Given the description of an element on the screen output the (x, y) to click on. 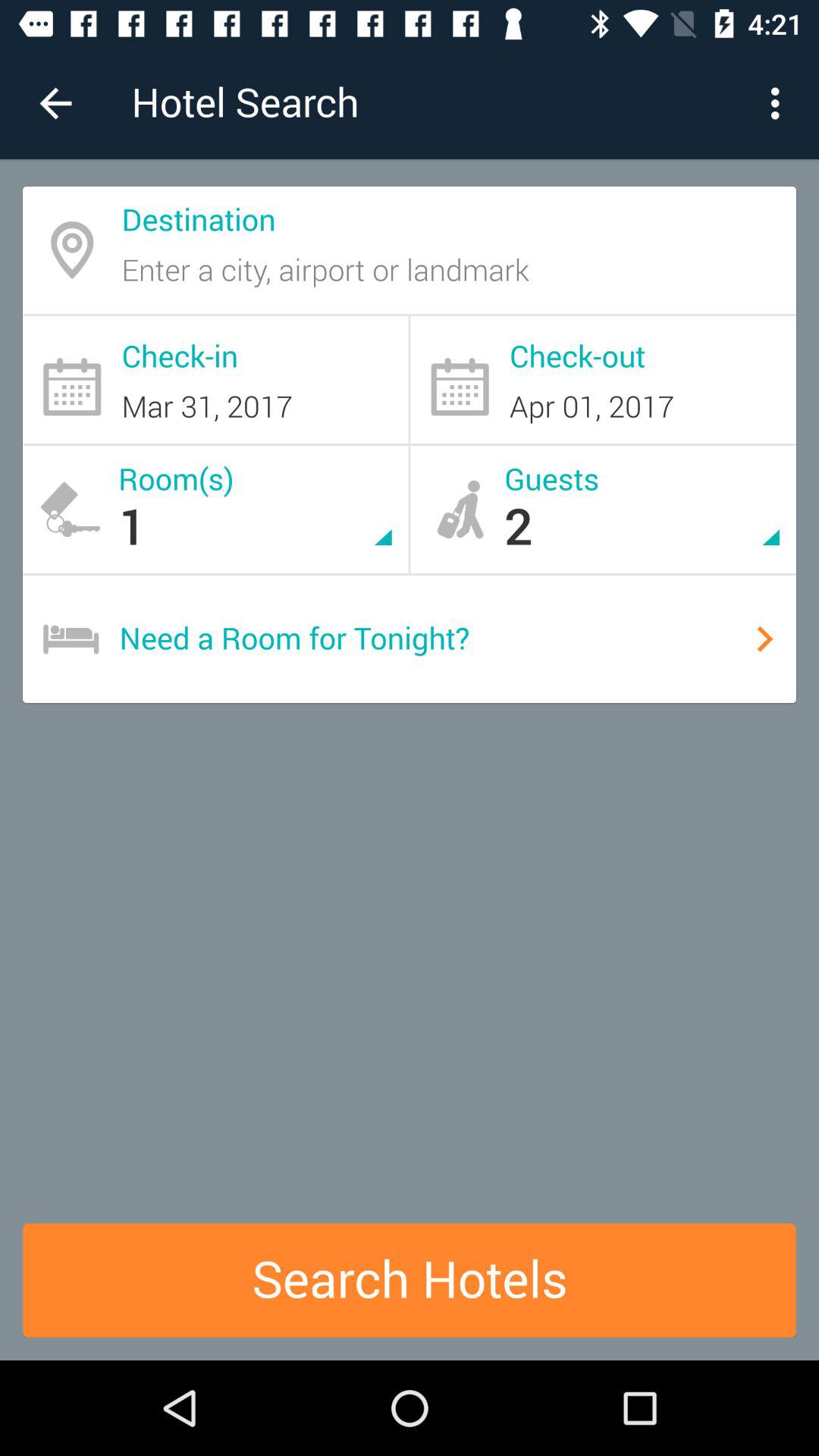
click item next to hotel search (55, 103)
